Given the description of an element on the screen output the (x, y) to click on. 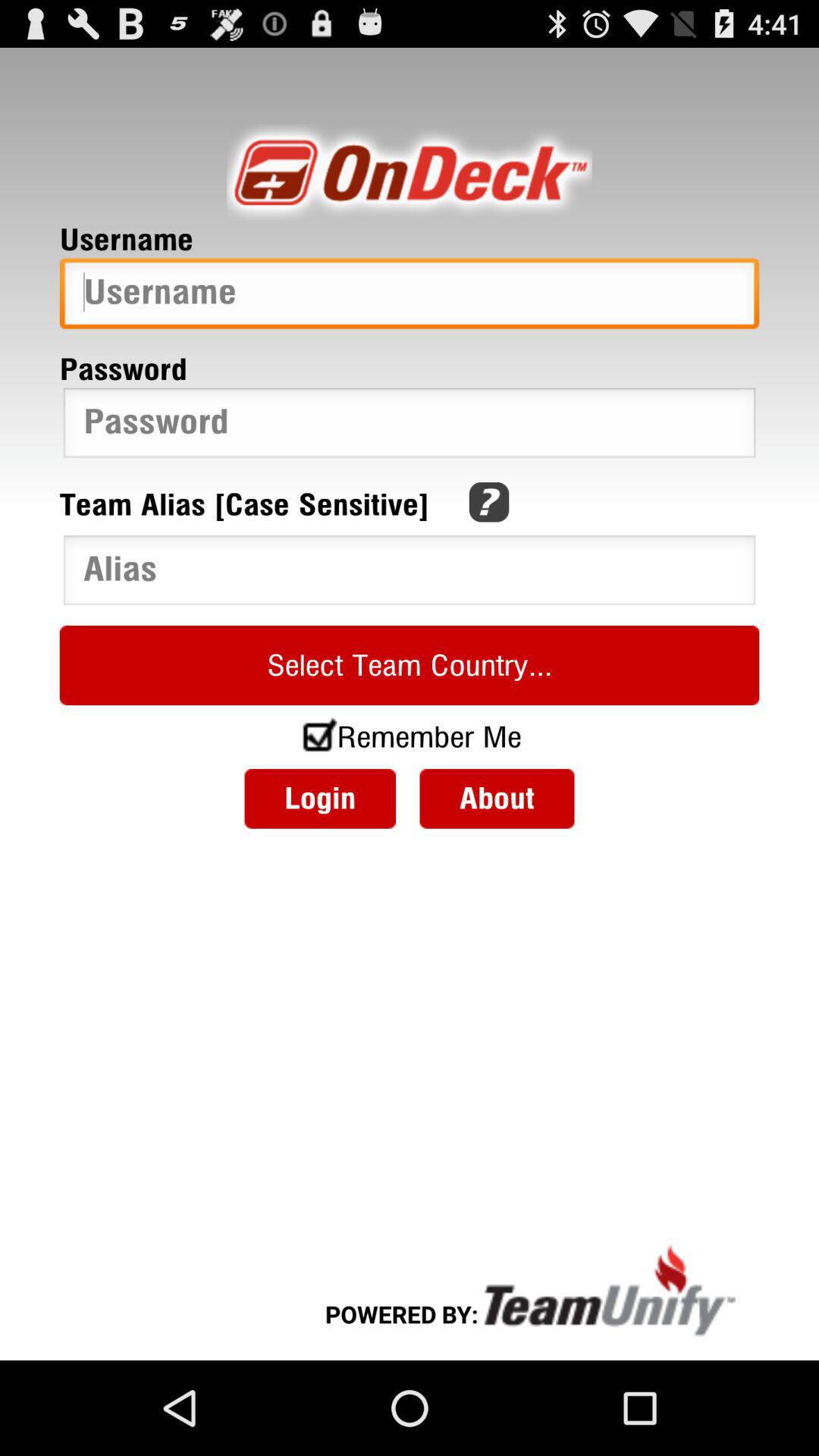
get help (489, 502)
